Given the description of an element on the screen output the (x, y) to click on. 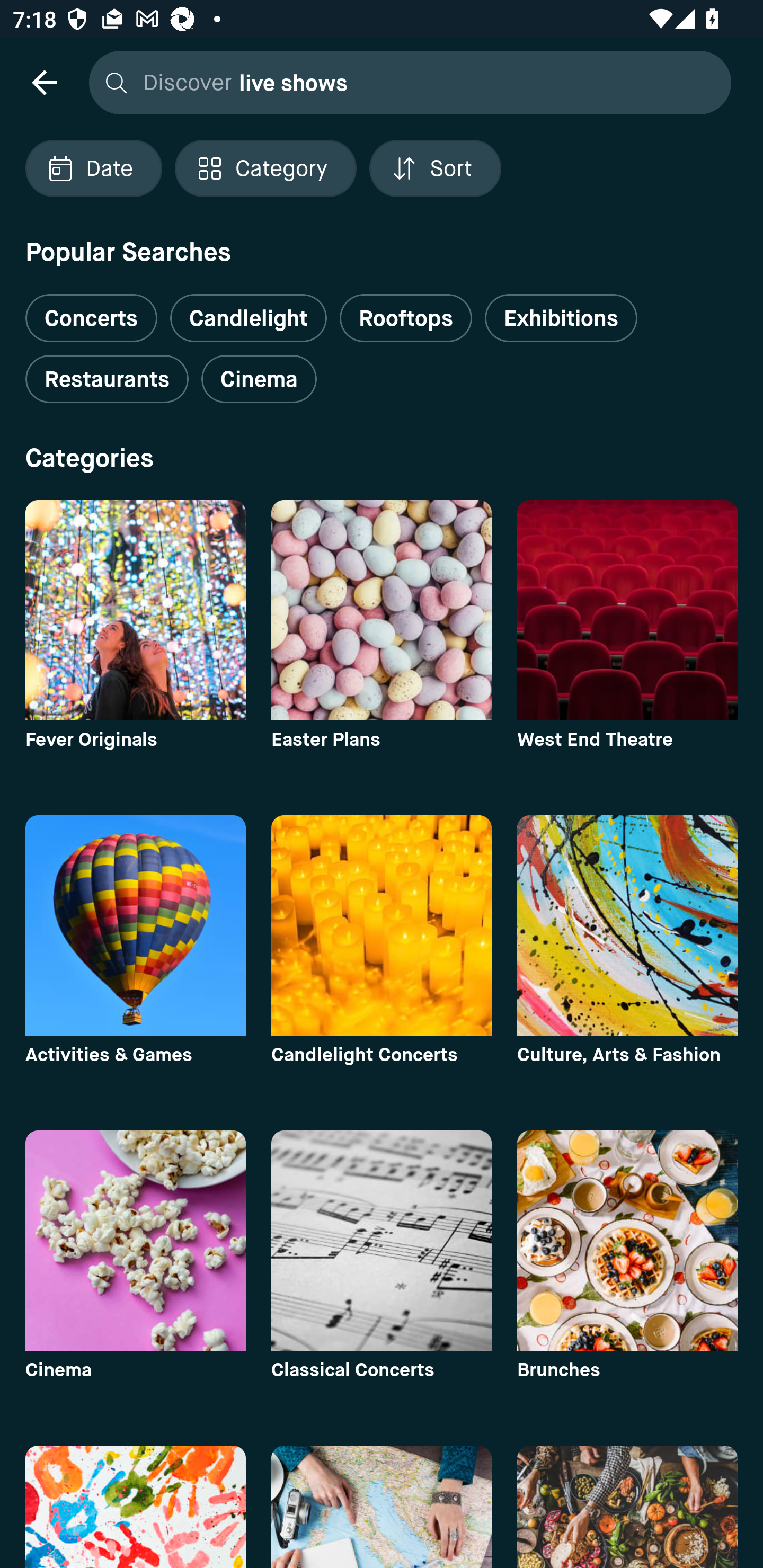
navigation icon (44, 81)
Discover live shows (405, 81)
Localized description Date (93, 168)
Localized description Category (265, 168)
Localized description Sort (435, 168)
Concerts (91, 310)
Candlelight (248, 317)
Rooftops (405, 317)
Exhibitions (560, 317)
Restaurants (106, 379)
Cinema (258, 379)
category image (135, 609)
category image (381, 609)
category image (627, 609)
category image (135, 924)
category image (381, 924)
category image (627, 924)
category image (135, 1240)
category image (381, 1240)
category image (627, 1240)
category image (135, 1506)
category image (381, 1506)
category image (627, 1506)
